Given the description of an element on the screen output the (x, y) to click on. 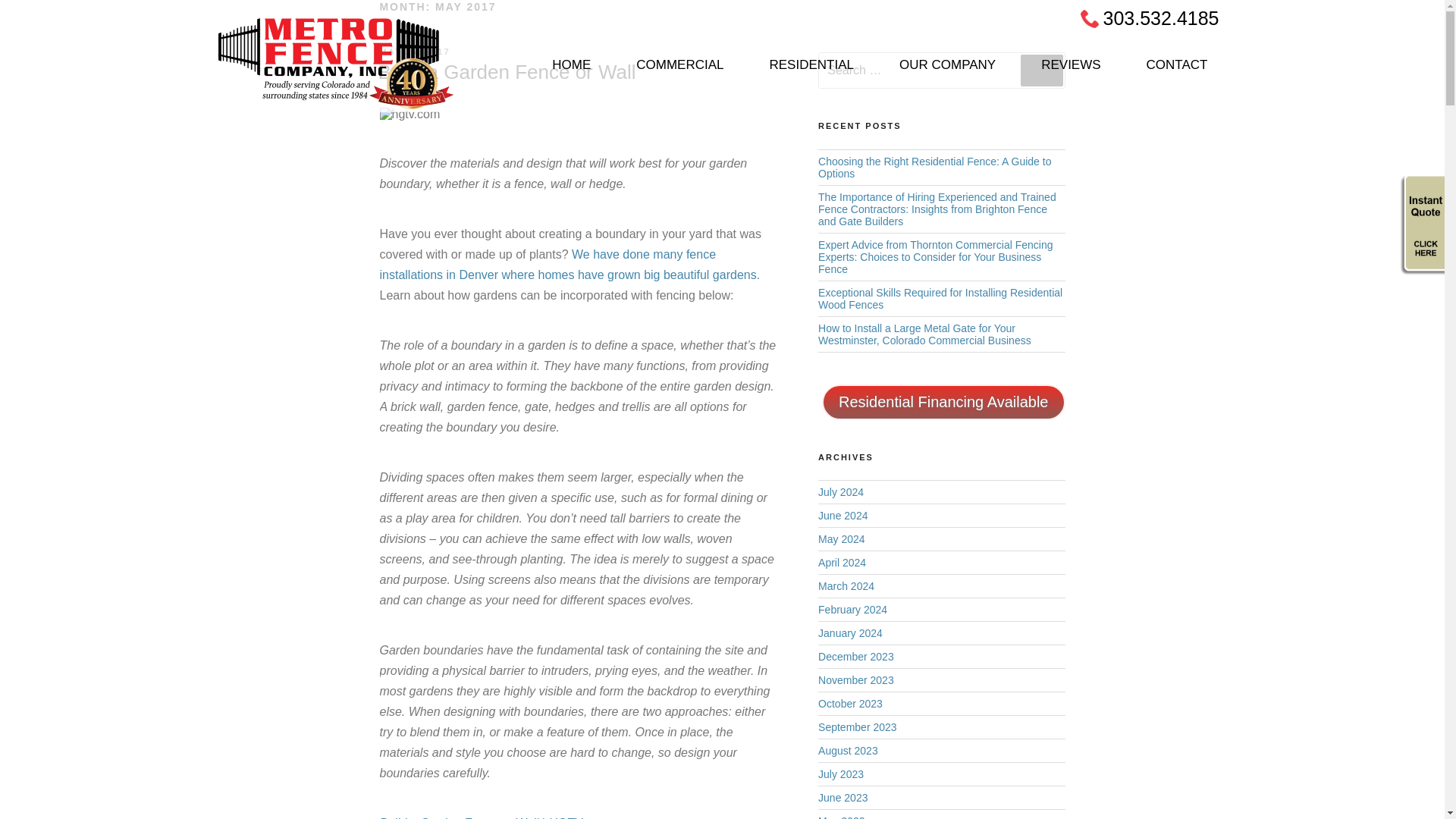
HOME (570, 71)
CONTACT (1177, 71)
OUR COMPANY (946, 71)
RESIDENTIAL (810, 71)
REVIEWS (1069, 71)
COMMERCIAL (678, 71)
303.532.4185 (1161, 17)
MAY 26, 2017 (413, 51)
Build a Garden Fence or Wall (505, 71)
